Given the description of an element on the screen output the (x, y) to click on. 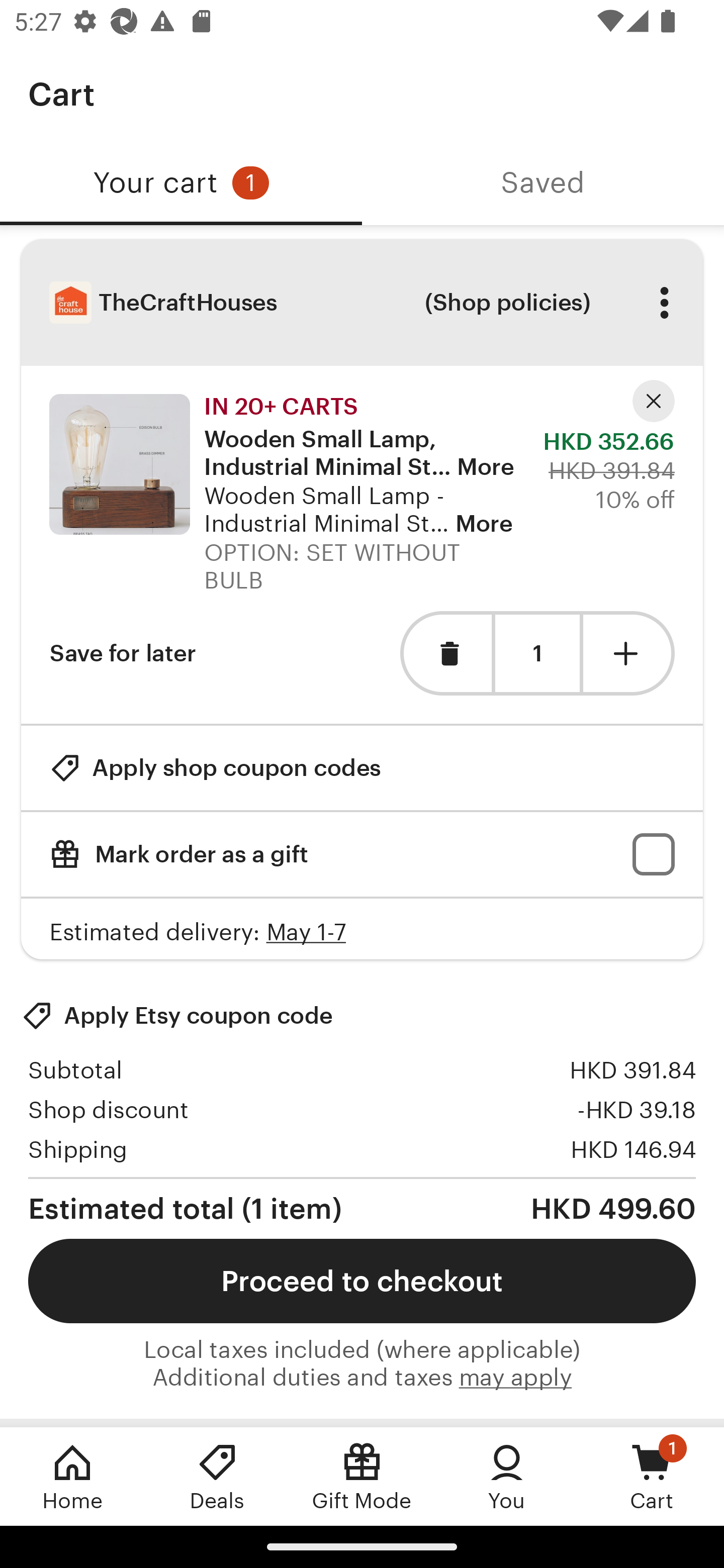
Saved, tab 2 of 2 Saved (543, 183)
TheCraftHouses (Shop policies) More options (361, 302)
(Shop policies) (507, 302)
More options (663, 302)
Save for later (122, 653)
Remove item from cart (445, 653)
Add one unit to cart (628, 653)
1 (537, 653)
Apply shop coupon codes (215, 767)
Mark order as a gift (361, 854)
Apply Etsy coupon code (177, 1015)
Proceed to checkout (361, 1280)
Home (72, 1475)
Deals (216, 1475)
Gift Mode (361, 1475)
You (506, 1475)
